Given the description of an element on the screen output the (x, y) to click on. 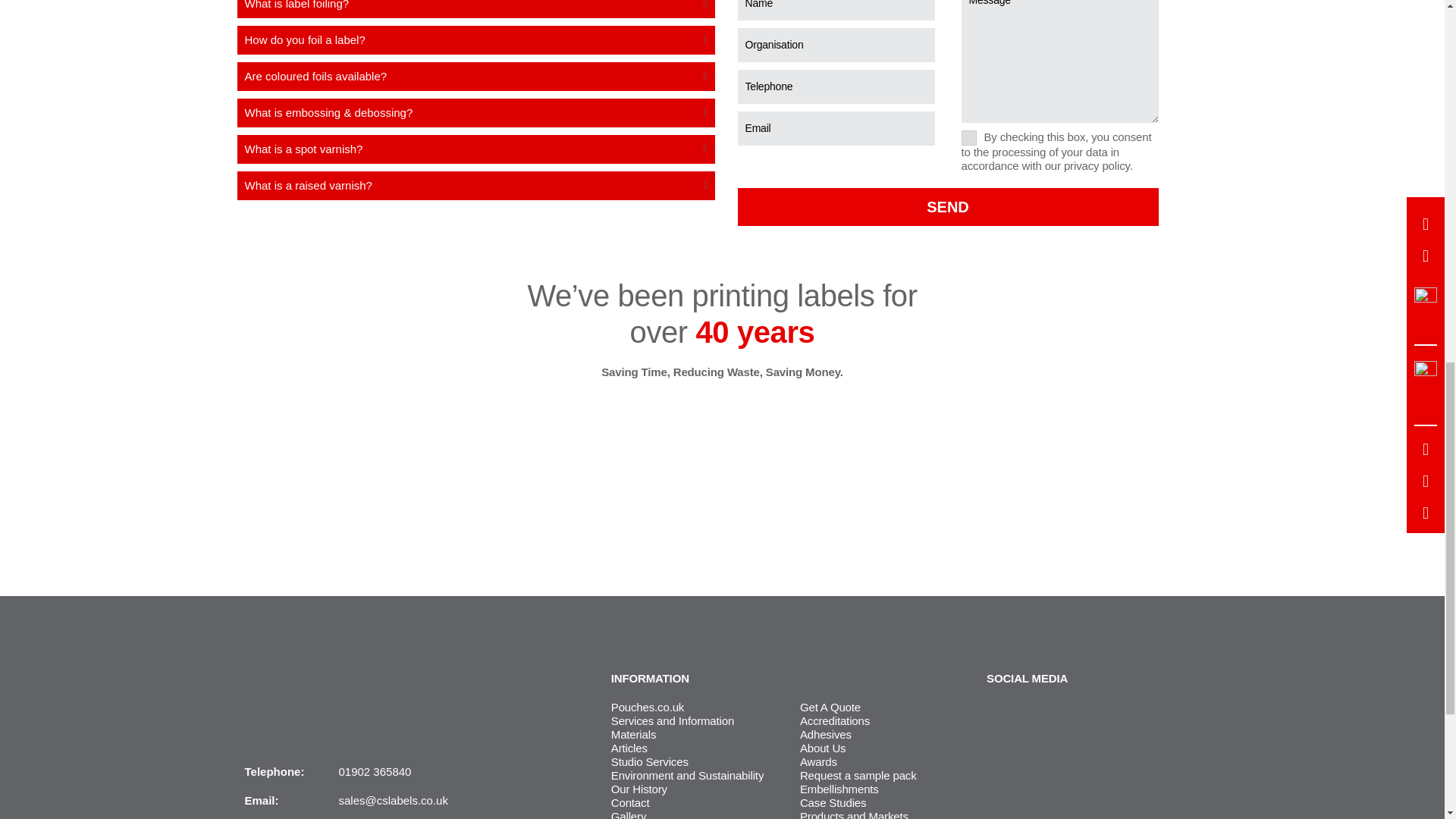
Studio Services (649, 761)
Materials (633, 734)
Get A Quote (829, 707)
Our History (638, 788)
Brand (292, 676)
Gallery (628, 814)
Pouches.co.uk (647, 707)
Environment and Sustainability (686, 775)
Services and Information (672, 720)
Send (946, 207)
